Given the description of an element on the screen output the (x, y) to click on. 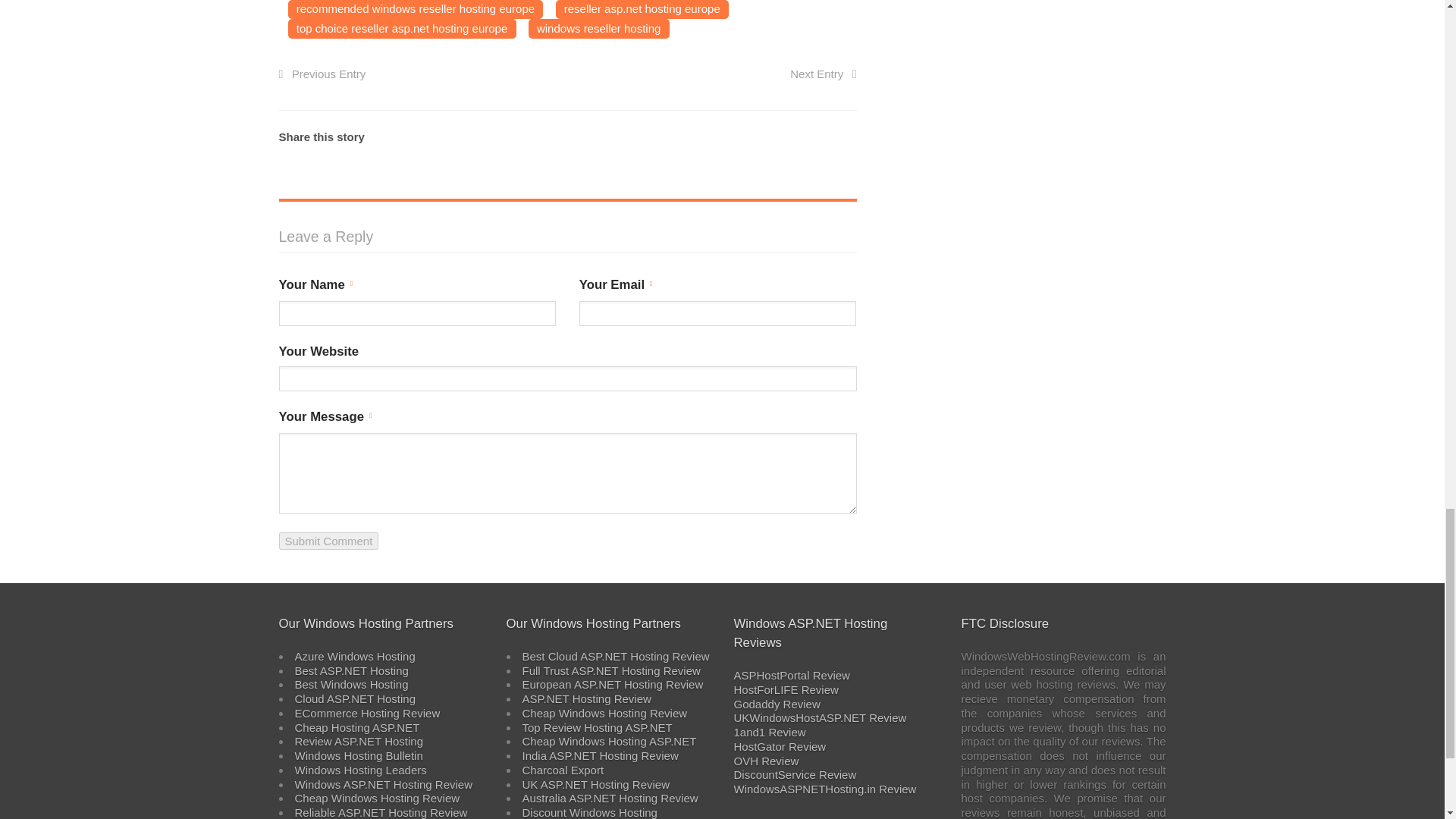
Submit Comment (328, 540)
Delicious (794, 137)
Twitter (668, 137)
Google Plus (818, 137)
Digg (768, 137)
Facebook (694, 137)
Reddit (718, 137)
Linkedin (744, 137)
Email (844, 137)
